Given the description of an element on the screen output the (x, y) to click on. 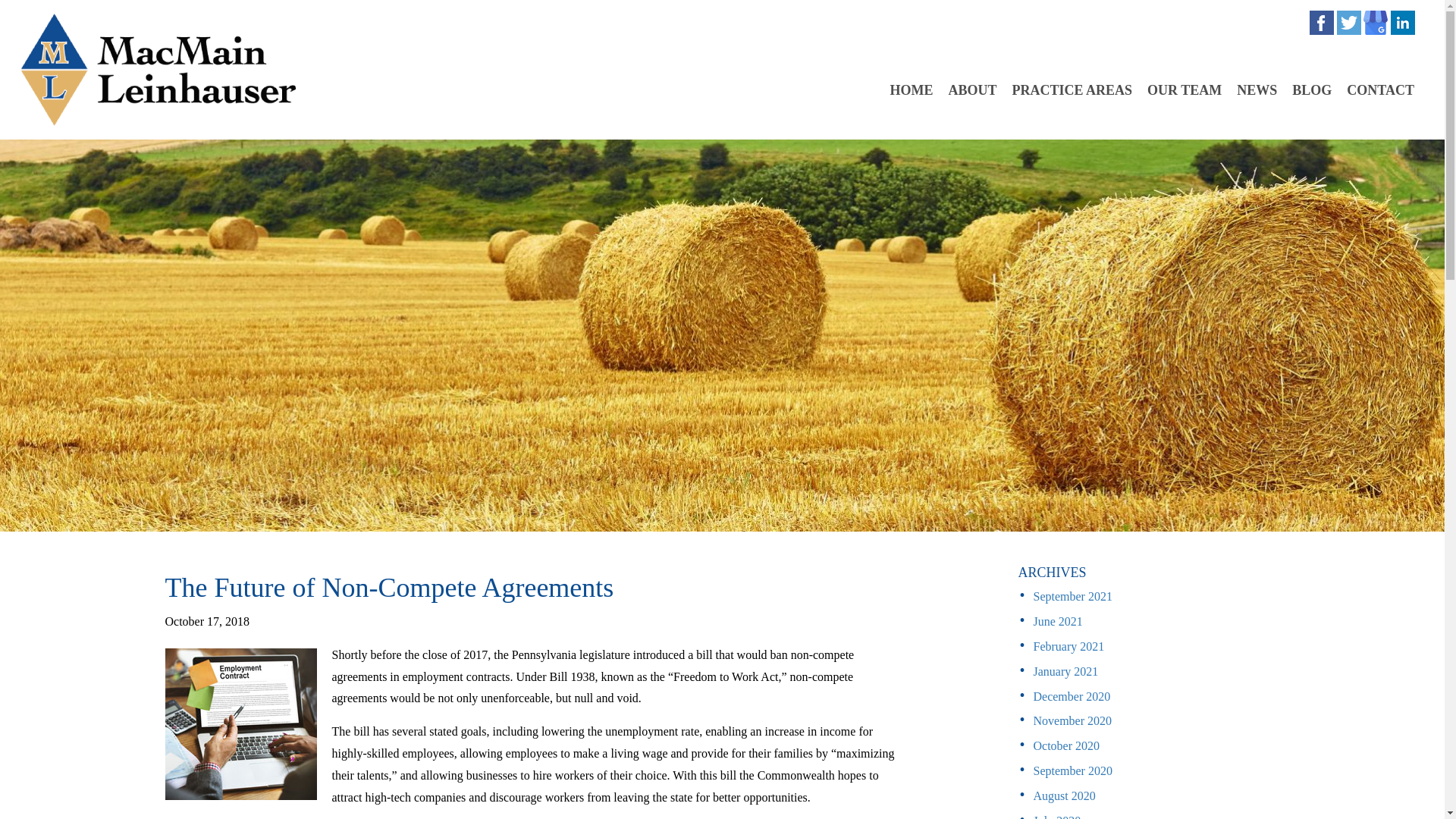
Pennsylvania Employment Lawyers (241, 724)
ABOUT (976, 89)
HOME (914, 89)
OUR TEAM (1187, 89)
September 2021 (1072, 595)
NEWS (1260, 89)
PRACTICE AREAS (1075, 89)
BLOG (1315, 89)
CONTACT (1384, 89)
